Given the description of an element on the screen output the (x, y) to click on. 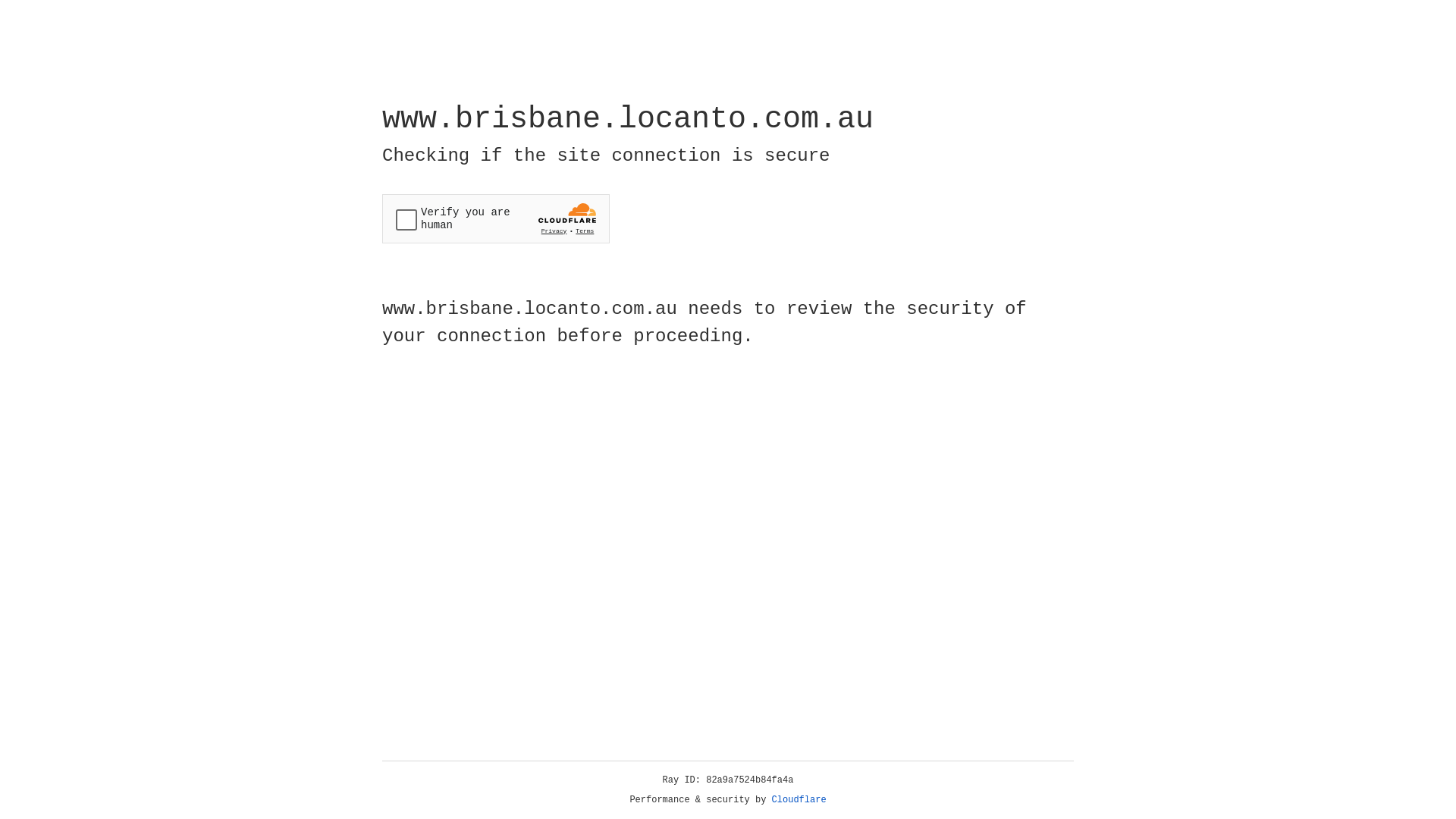
Cloudflare Element type: text (798, 799)
Widget containing a Cloudflare security challenge Element type: hover (495, 218)
